Given the description of an element on the screen output the (x, y) to click on. 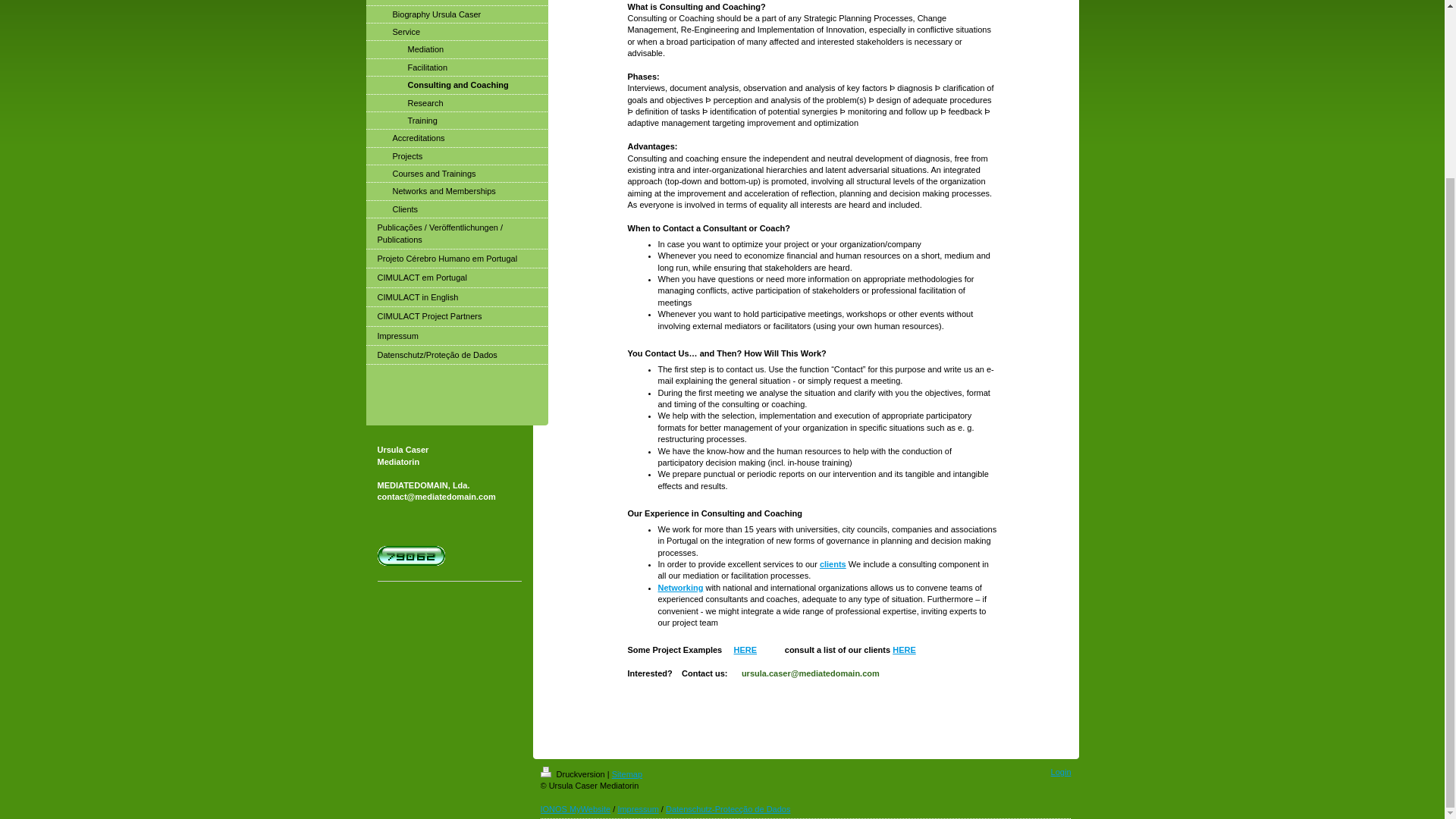
Courses and Trainings (456, 173)
HERE (903, 649)
Facilitation (456, 67)
Research (456, 103)
Login (1061, 771)
Biography Ursula Caser (456, 14)
Training (456, 120)
Clients (456, 209)
Druckversion (573, 773)
Service (456, 31)
CIMULACT in English (456, 297)
Impressum (637, 809)
Networks and Memberships (456, 190)
Accreditations (456, 138)
Mediation (456, 49)
